Given the description of an element on the screen output the (x, y) to click on. 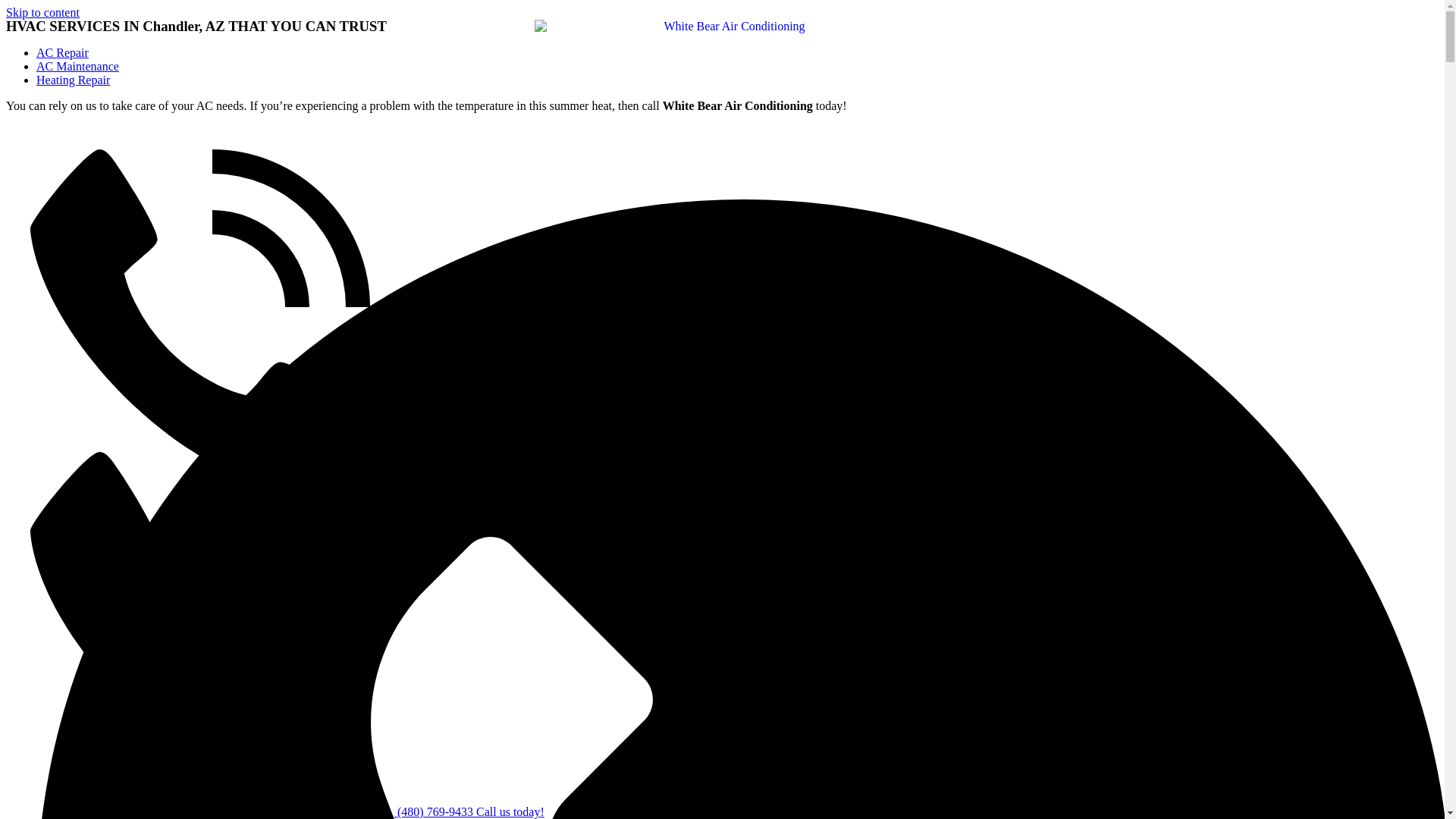
Skip to content (42, 11)
AC Repair (62, 51)
AC Maintenance (77, 65)
Heating Repair (73, 79)
